Given the description of an element on the screen output the (x, y) to click on. 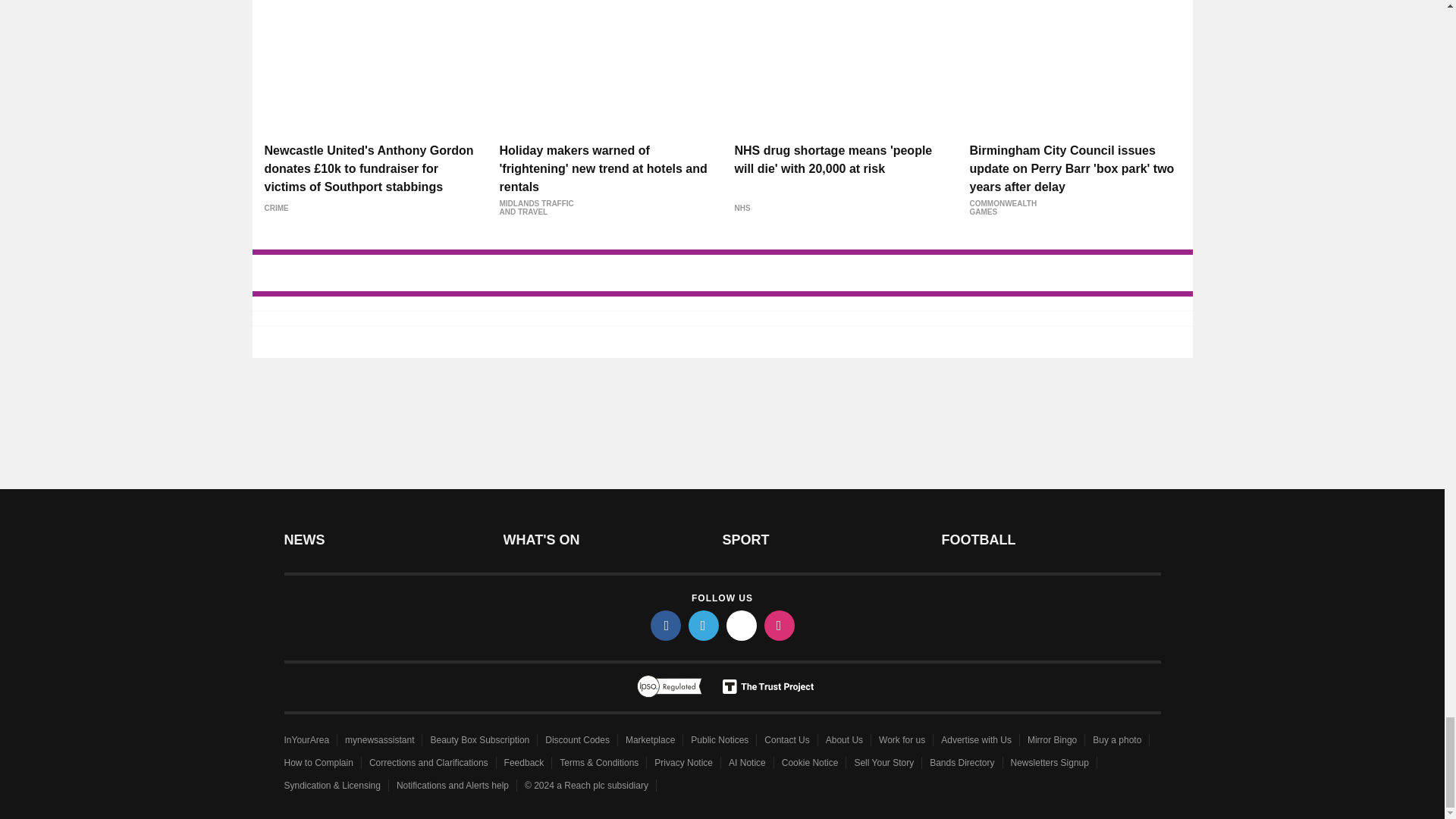
instagram (779, 625)
twitter (703, 625)
tiktok (741, 625)
facebook (665, 625)
